Given the description of an element on the screen output the (x, y) to click on. 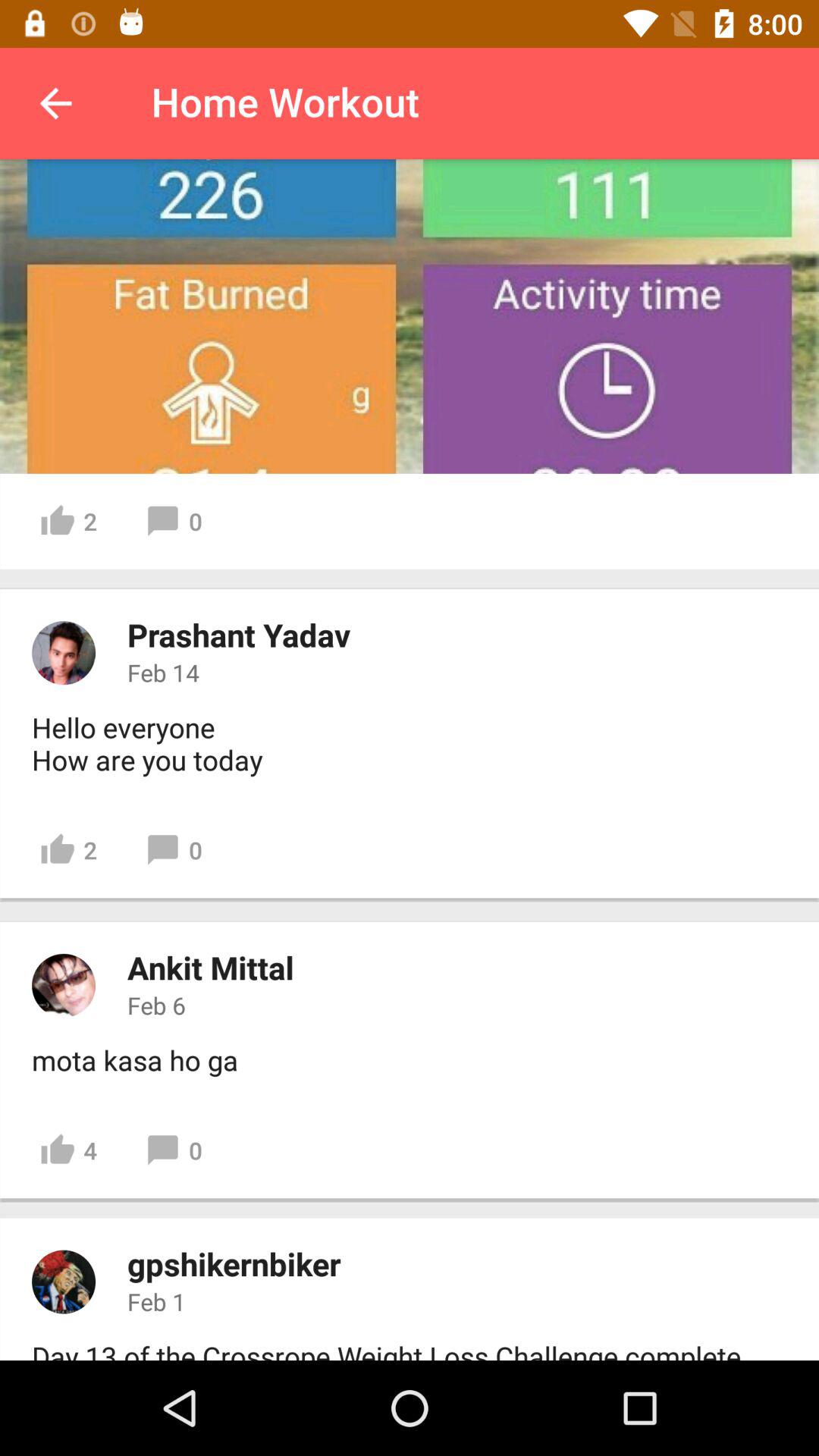
click the ankit mittal item (210, 967)
